Given the description of an element on the screen output the (x, y) to click on. 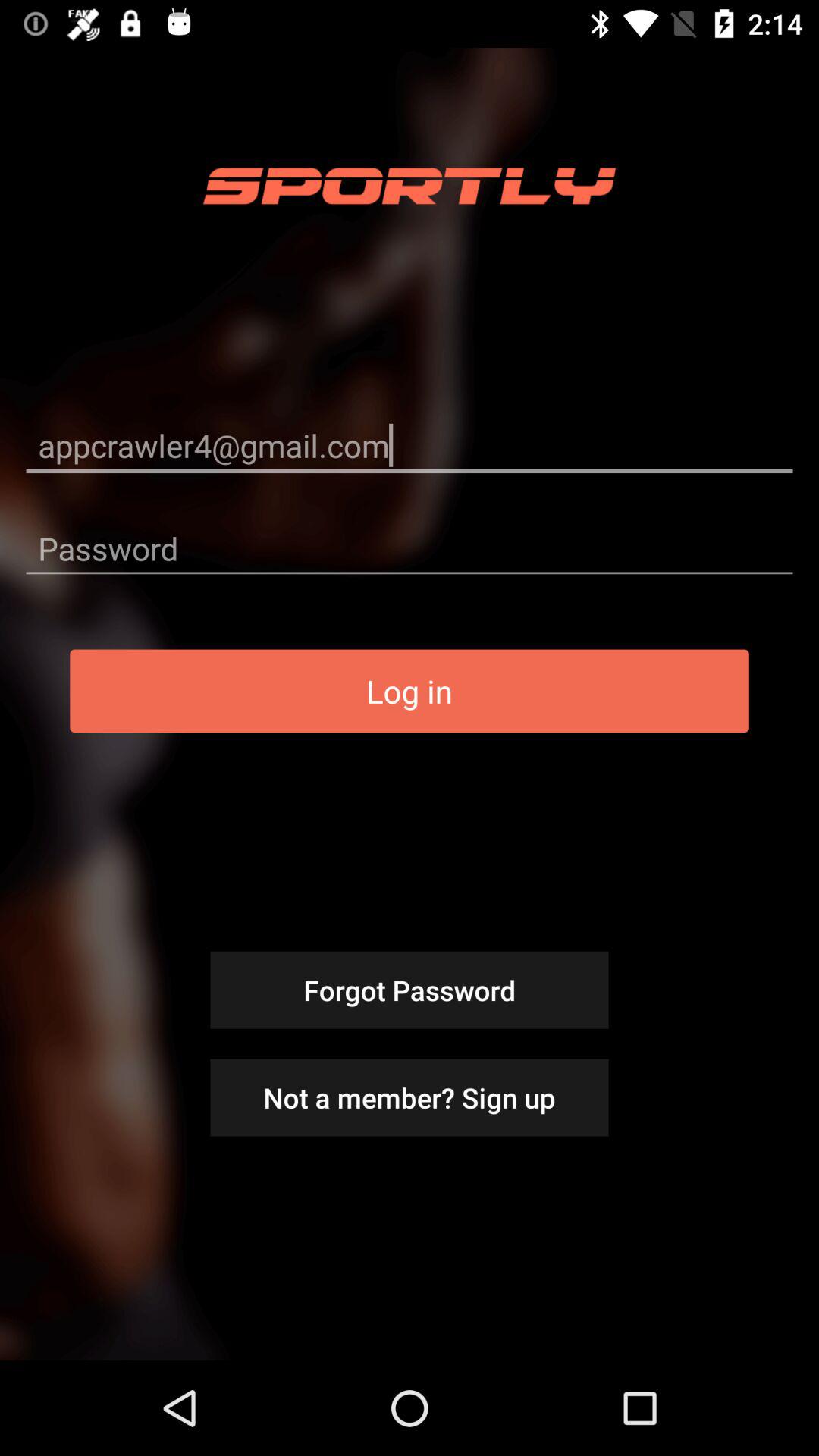
click the icon below appcrawler4@gmail.com icon (409, 547)
